Given the description of an element on the screen output the (x, y) to click on. 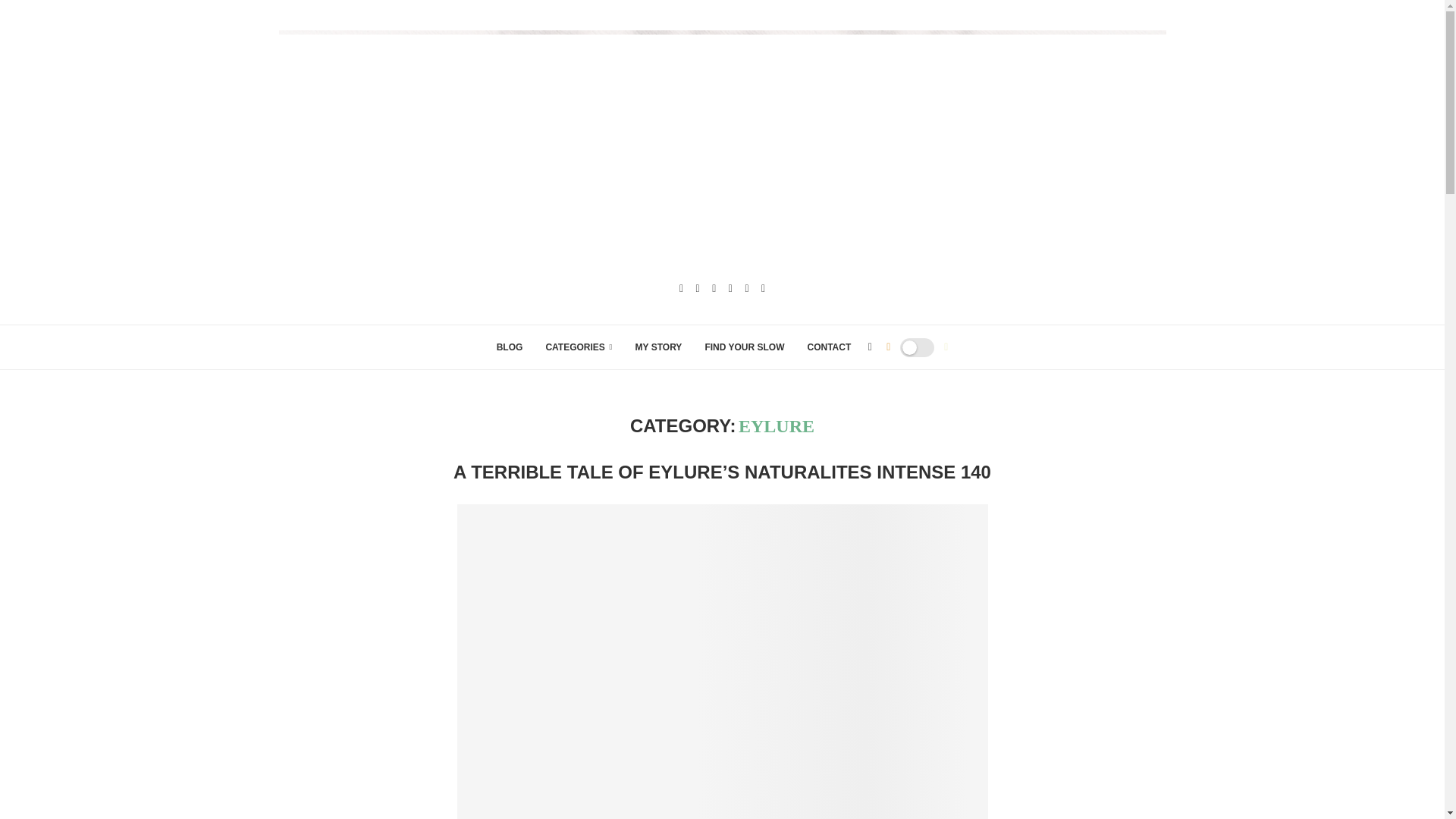
MY STORY (658, 347)
CONTACT (828, 347)
CATEGORIES (577, 347)
FIND YOUR SLOW (744, 347)
